Given the description of an element on the screen output the (x, y) to click on. 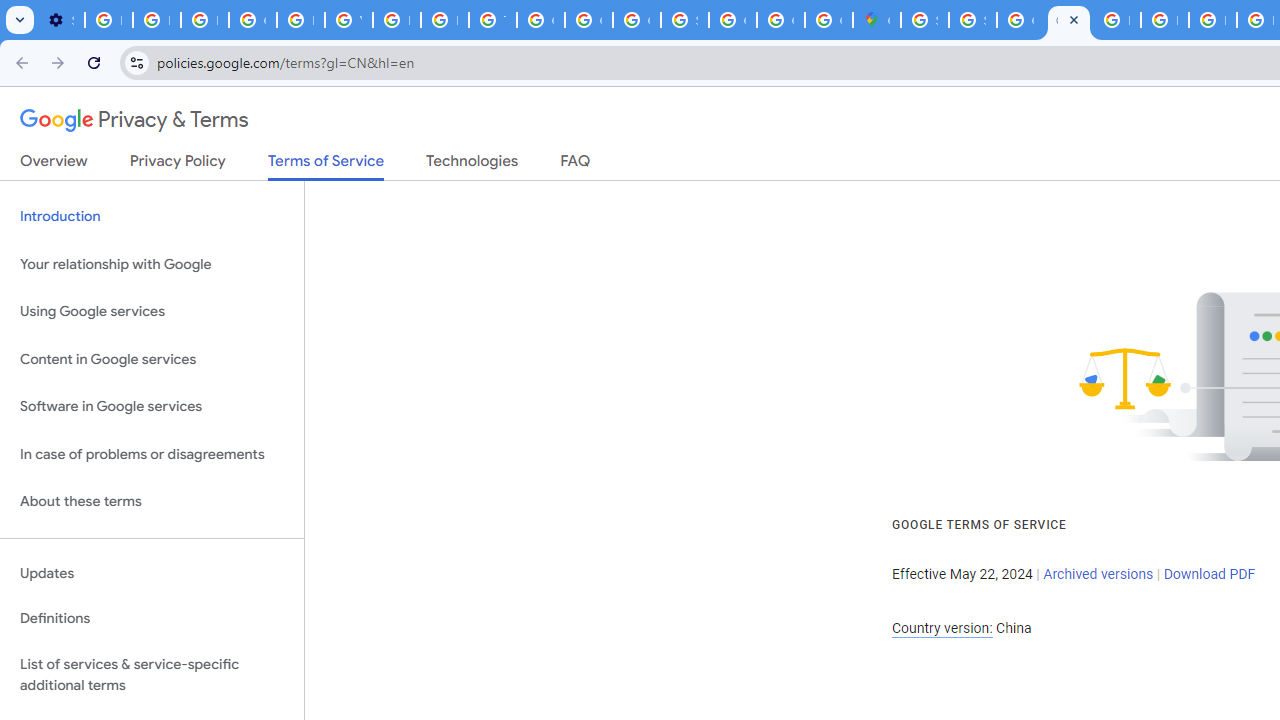
Sign in - Google Accounts (684, 20)
About these terms (152, 502)
Blogger Policies and Guidelines - Transparency Center (1116, 20)
Software in Google services (152, 407)
Your relationship with Google (152, 263)
